Given the description of an element on the screen output the (x, y) to click on. 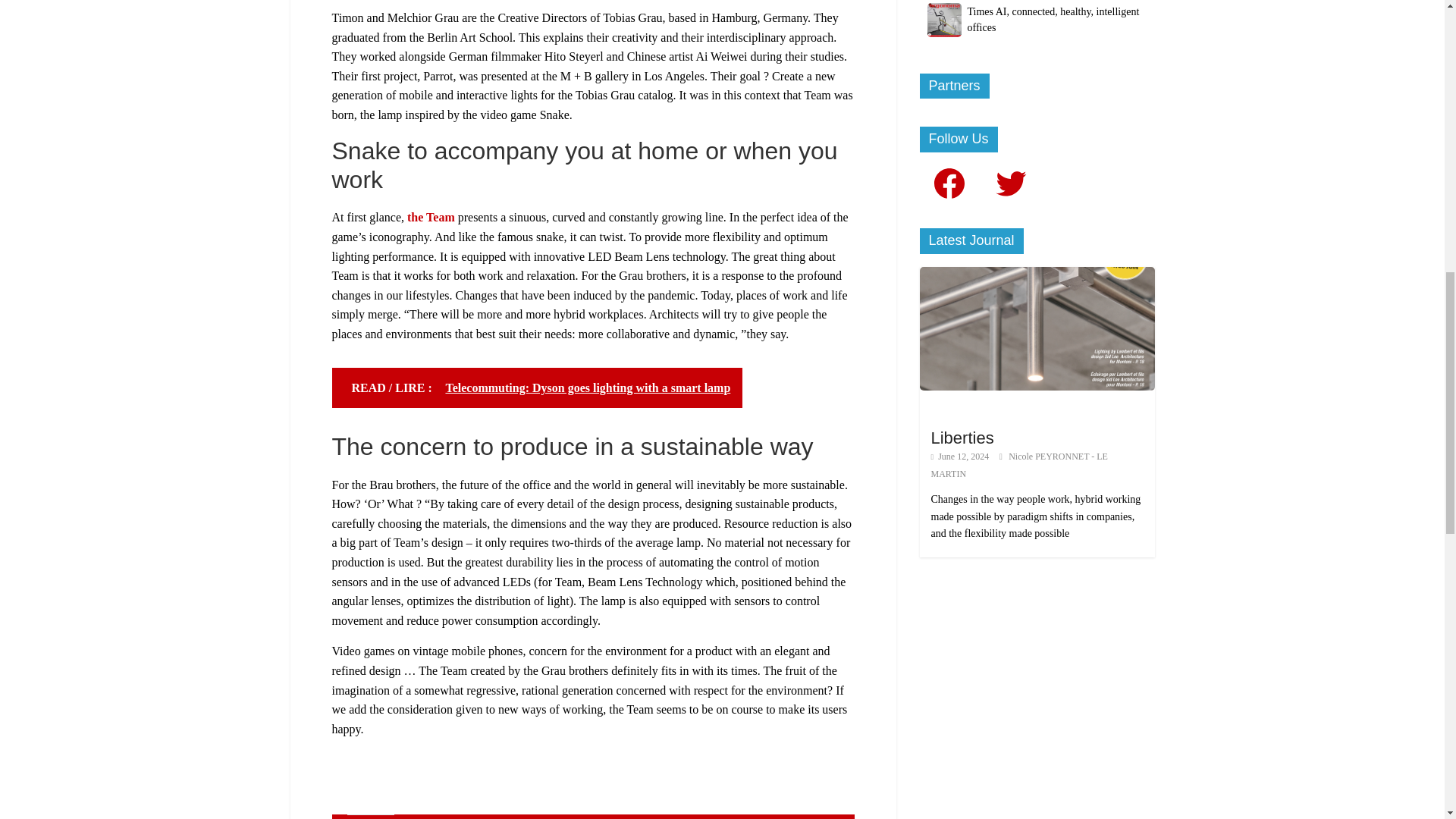
the Team (430, 216)
